Given the description of an element on the screen output the (x, y) to click on. 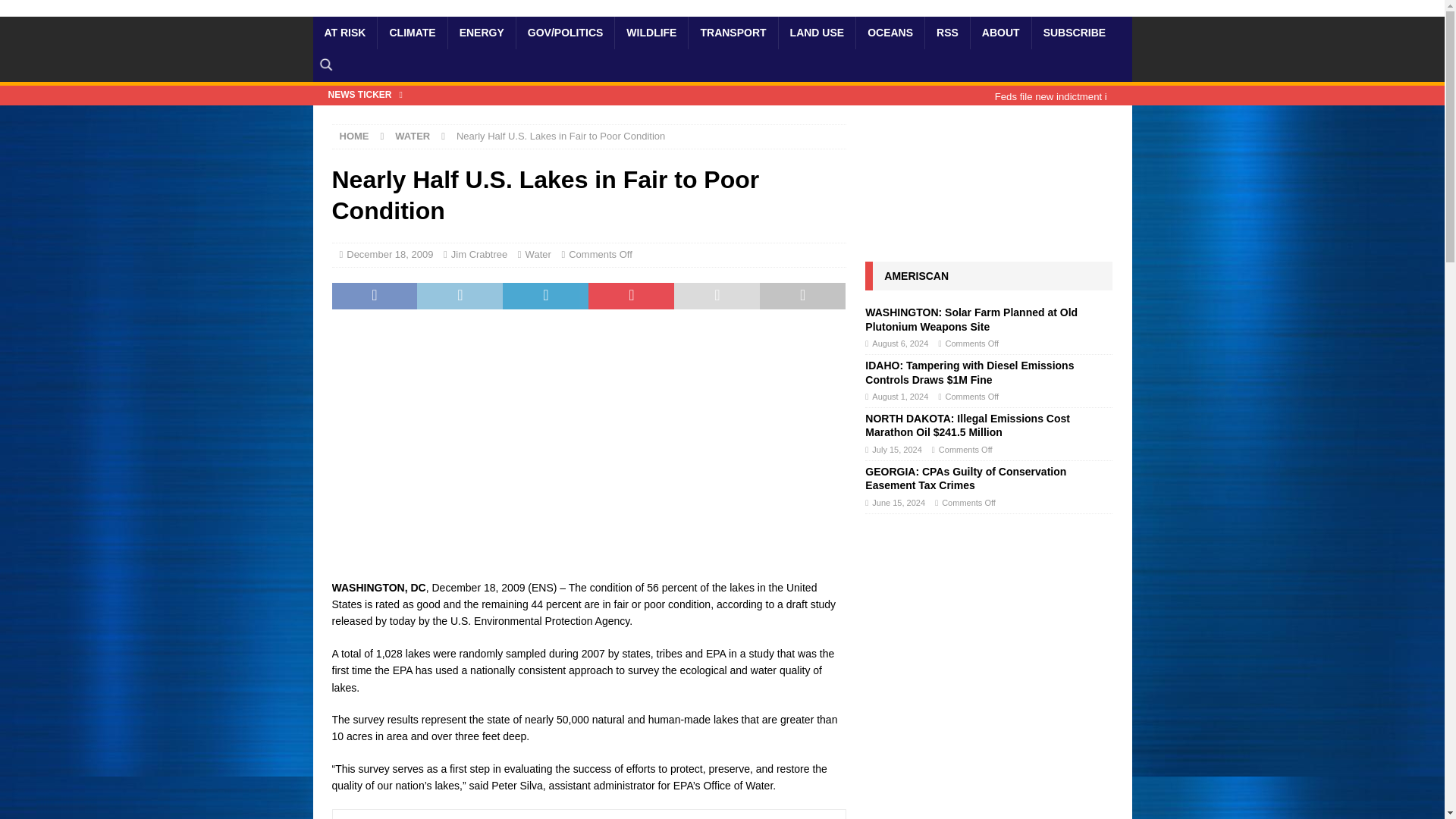
SUBSCRIBE (1073, 32)
ENERGY (480, 32)
AT RISK (345, 32)
HOME (354, 135)
GEORGIA: CPAs Guilty of Conservation Easement Tax Crimes (964, 478)
WILDLIFE (650, 32)
Search (56, 11)
LAND USE (816, 32)
WASHINGTON: Solar Farm Planned at Old Plutonium Weapons Site (970, 319)
TRANSPORT (732, 32)
